Given the description of an element on the screen output the (x, y) to click on. 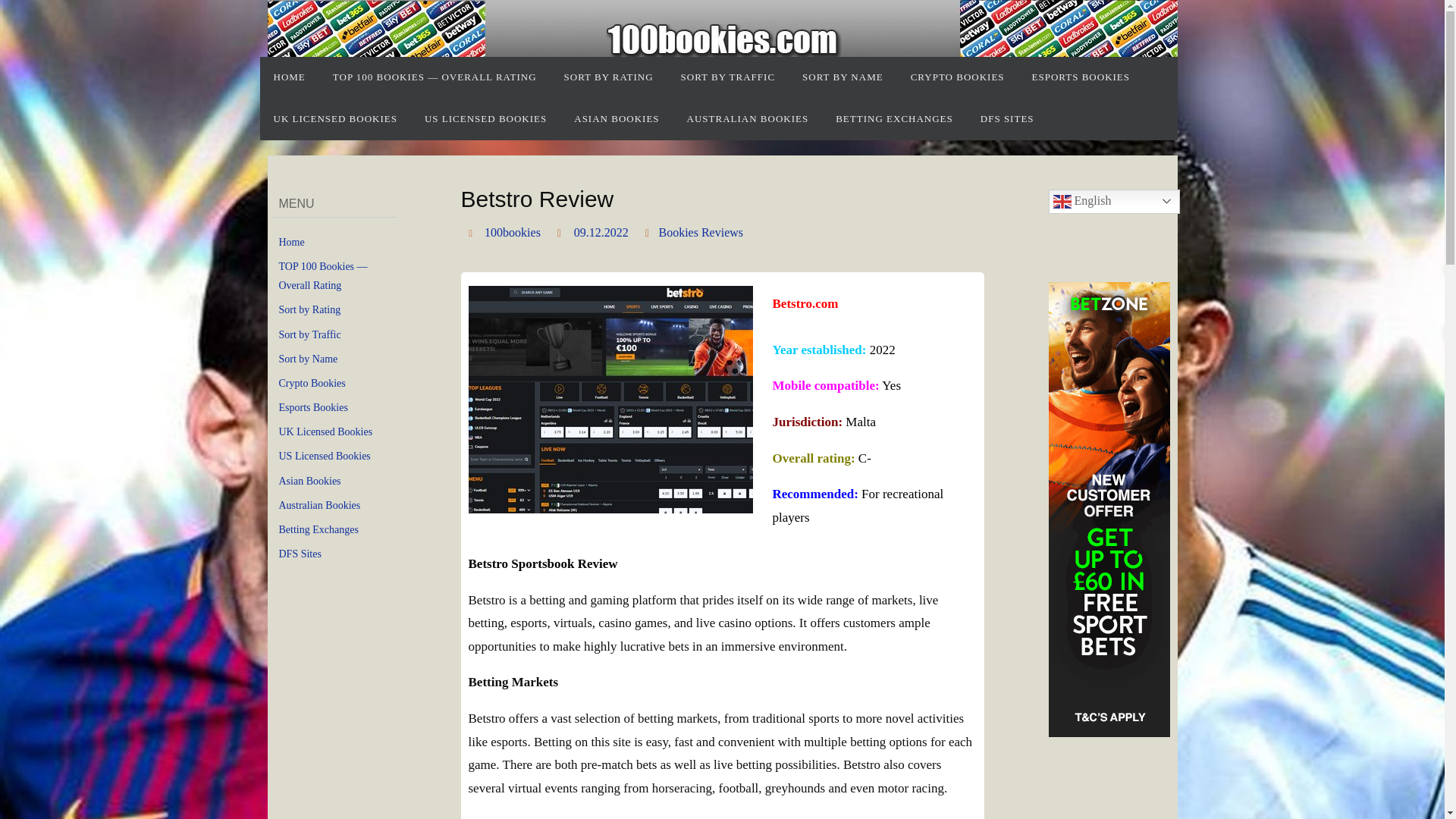
UK Licensed Bookies (325, 431)
View all posts by 100bookies (512, 232)
AUSTRALIAN BOOKIES (747, 119)
US LICENSED BOOKIES (485, 119)
HOME (288, 77)
Crypto Bookies (312, 383)
Bookies Reviews (700, 232)
Author  (472, 232)
Esports Bookies (313, 408)
Home (291, 242)
